Given the description of an element on the screen output the (x, y) to click on. 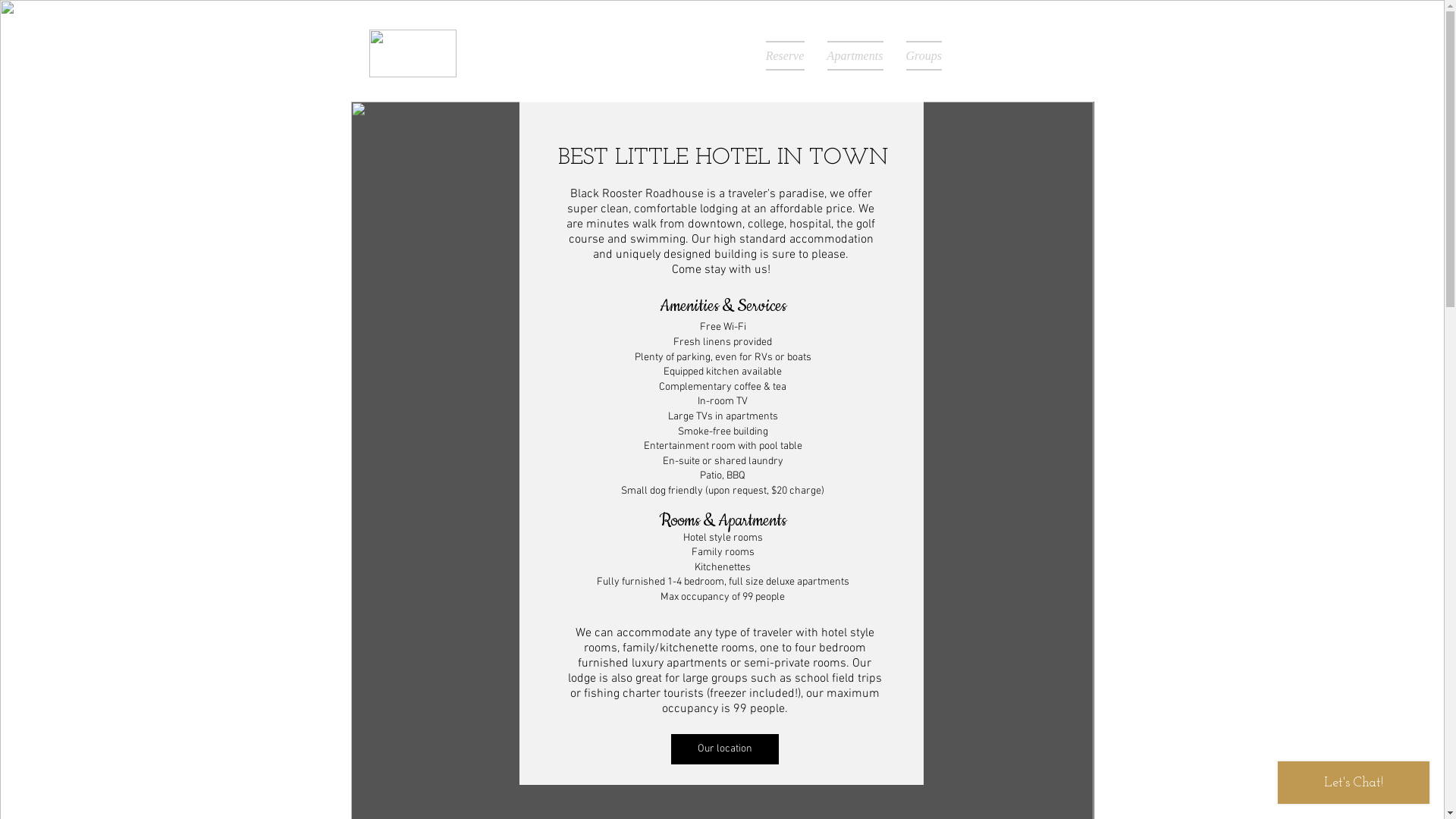
About Element type: text (972, 55)
letter-logo-105.png Element type: hover (411, 53)
Groups Element type: text (923, 55)
Apartments Element type: text (854, 55)
Our location Element type: text (724, 749)
Reserve Element type: text (784, 55)
Book Now Element type: text (1051, 56)
